Given the description of an element on the screen output the (x, y) to click on. 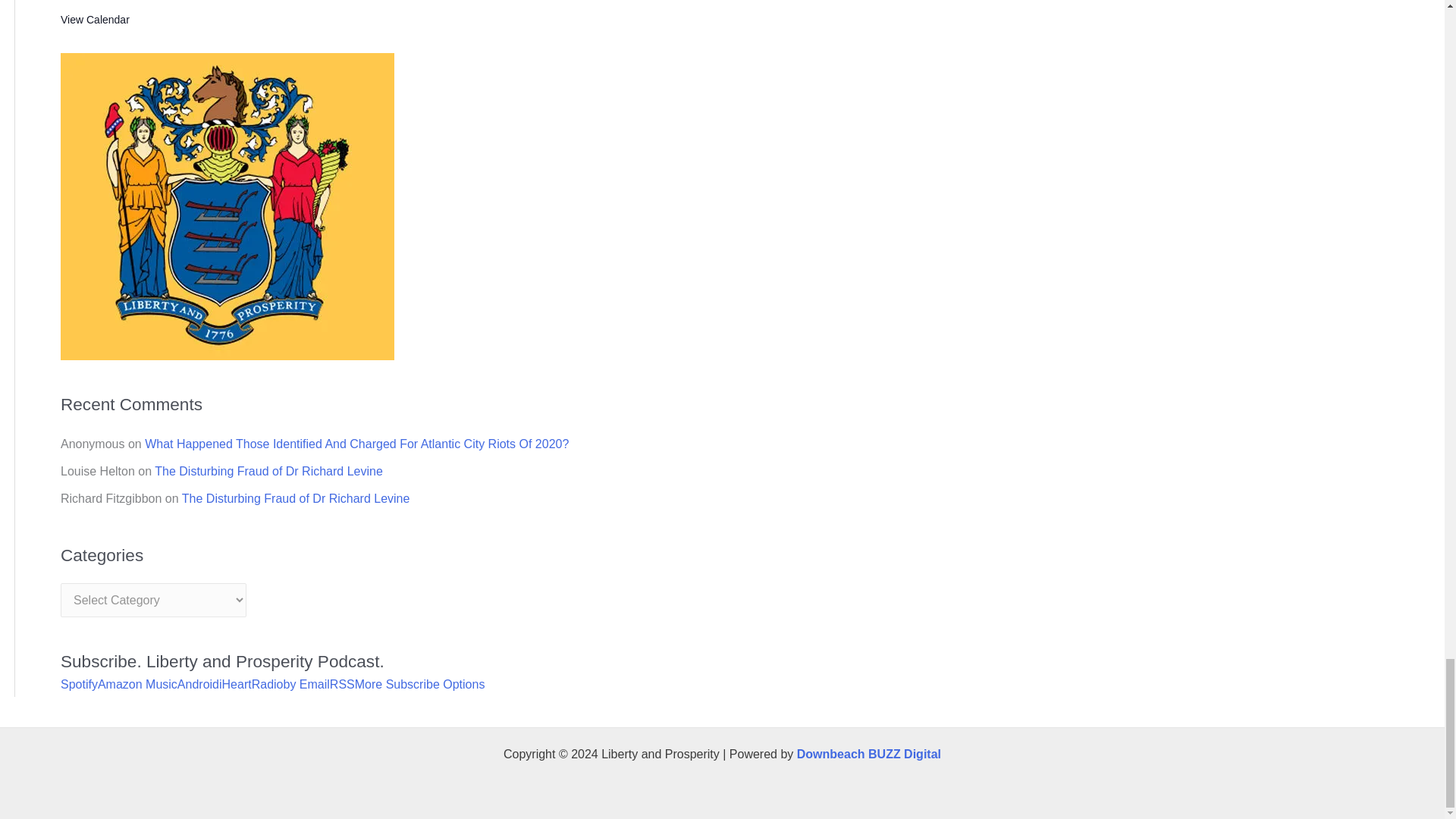
Subscribe on Spotify (79, 684)
View more events. (95, 19)
Subscribe on Amazon Music (137, 684)
Subscribe on Android (198, 684)
